Given the description of an element on the screen output the (x, y) to click on. 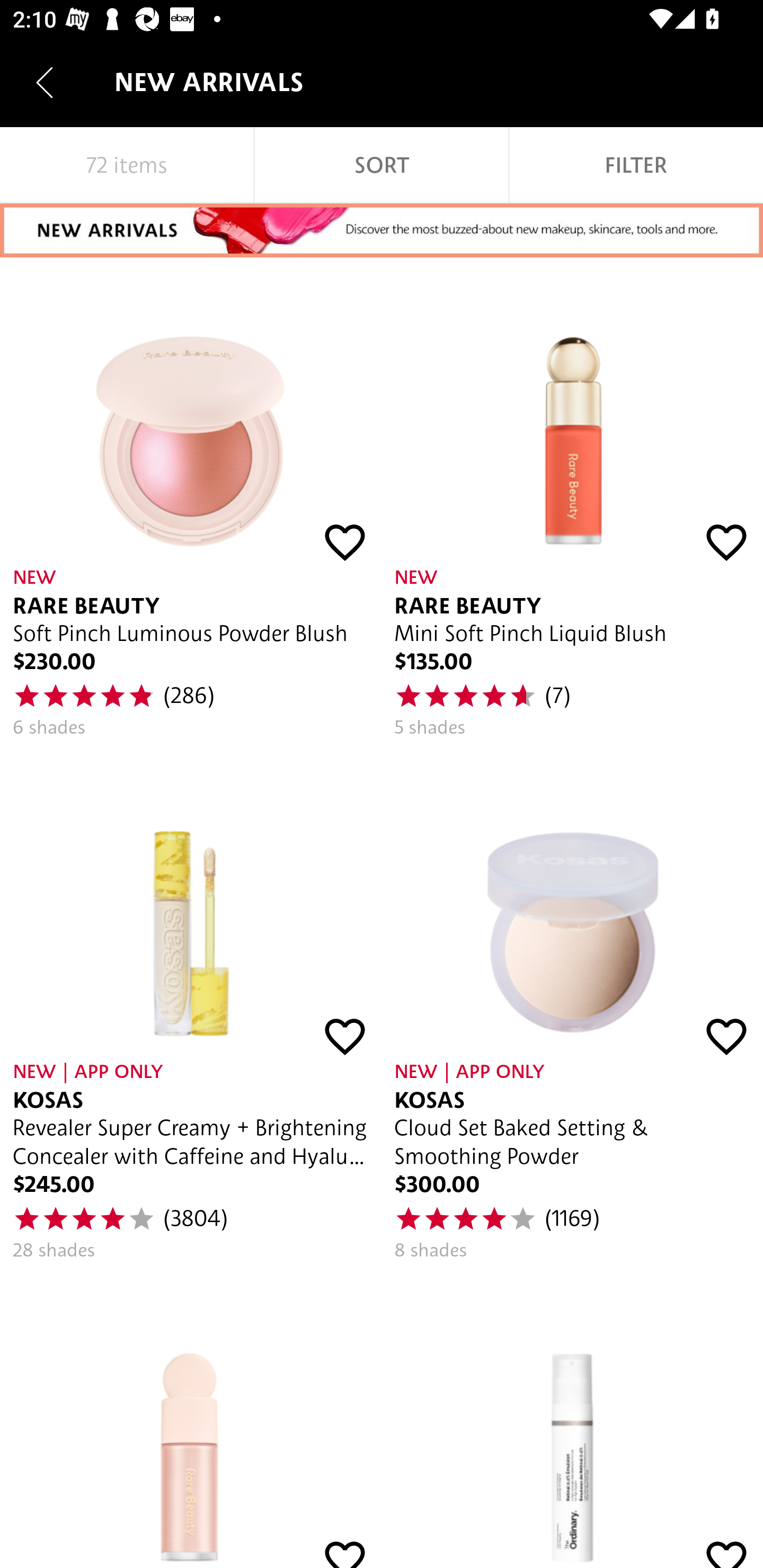
Navigate up (44, 82)
SORT (381, 165)
FILTER (636, 165)
